Given the description of an element on the screen output the (x, y) to click on. 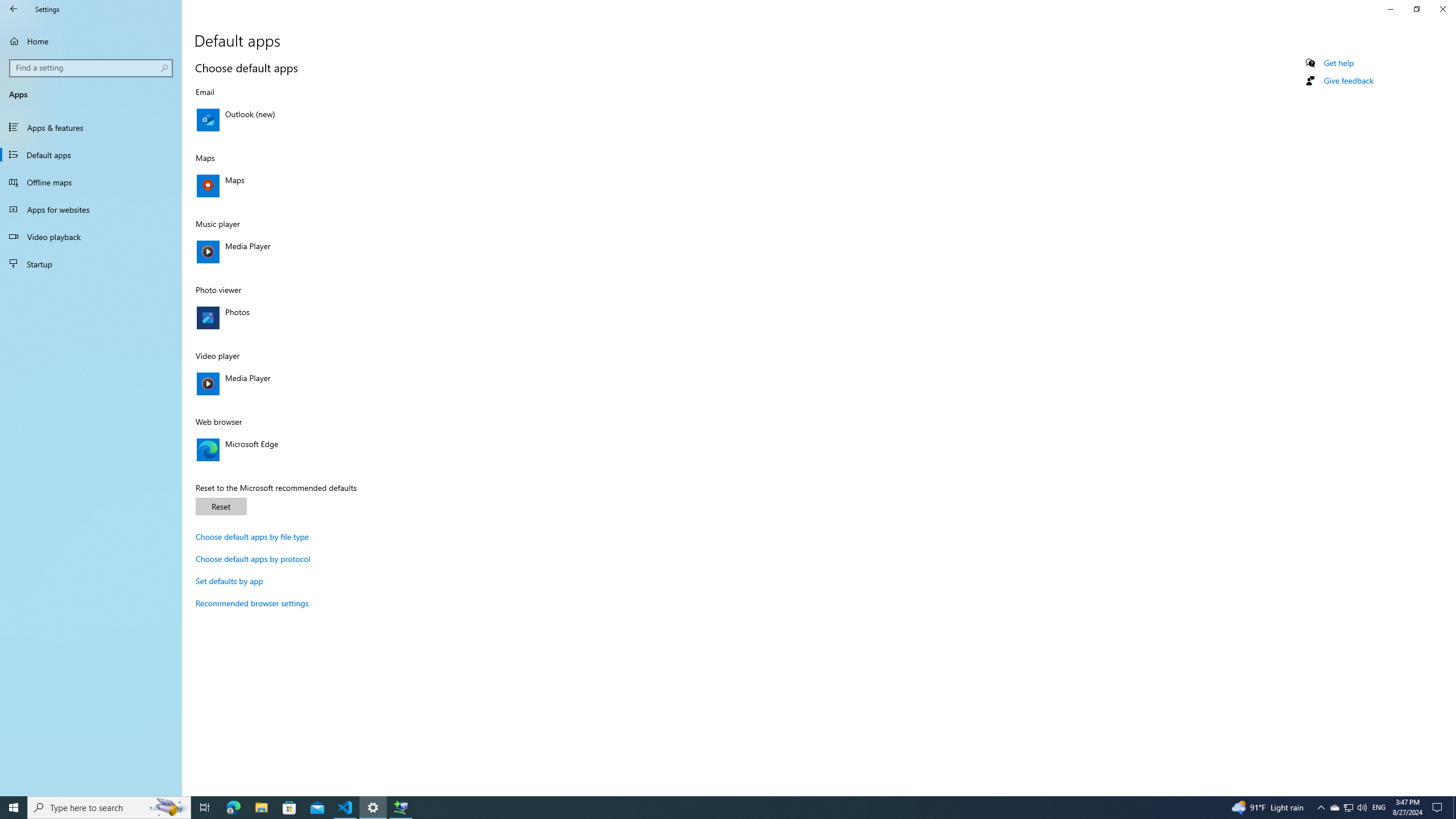
Email, Outlook (new) (314, 119)
Music player, Media Player (314, 251)
Web browser, Microsoft Edge (314, 449)
Apps & features (91, 126)
Close Settings (1442, 9)
Choose default apps by protocol (252, 558)
Photo viewer, Photos (314, 317)
Apps for websites (91, 208)
Set defaults by app (229, 580)
Reset (221, 506)
